Given the description of an element on the screen output the (x, y) to click on. 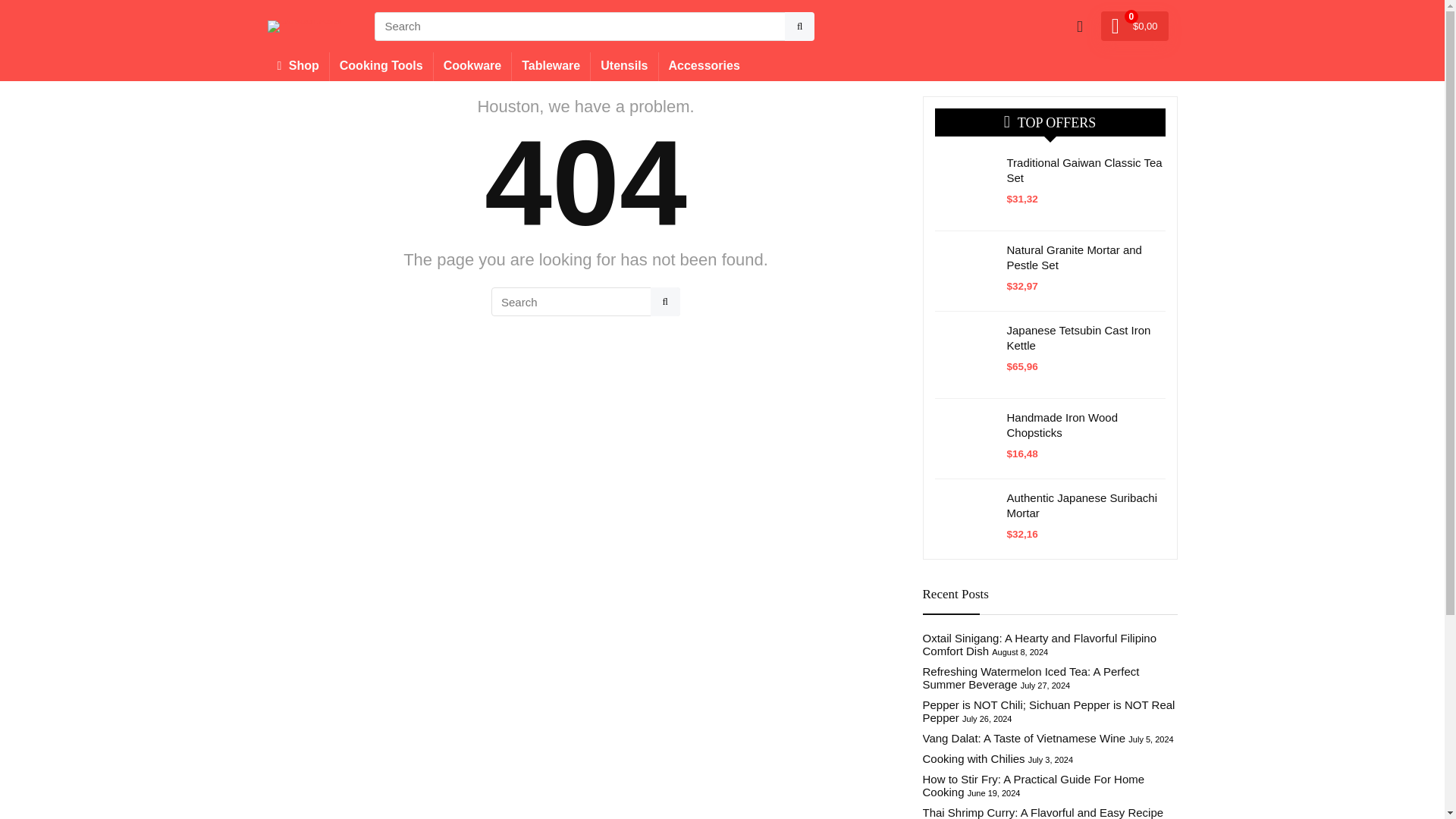
Tableware (550, 66)
Refreshing Watermelon Iced Tea: A Perfect Summer Beverage (1029, 678)
Thai Shrimp Curry: A Flavorful and Easy Recipe Guide (1042, 812)
Cooking with Chilies (973, 758)
Vang Dalat: A Taste of Vietnamese Wine (1023, 738)
Pepper is NOT Chili; Sichuan Pepper is NOT Real Pepper (1047, 710)
Japanese Tetsubin Cast Iron Kettle (1079, 337)
Utensils (624, 66)
Natural Granite Mortar and Pestle Set (1074, 257)
